Given the description of an element on the screen output the (x, y) to click on. 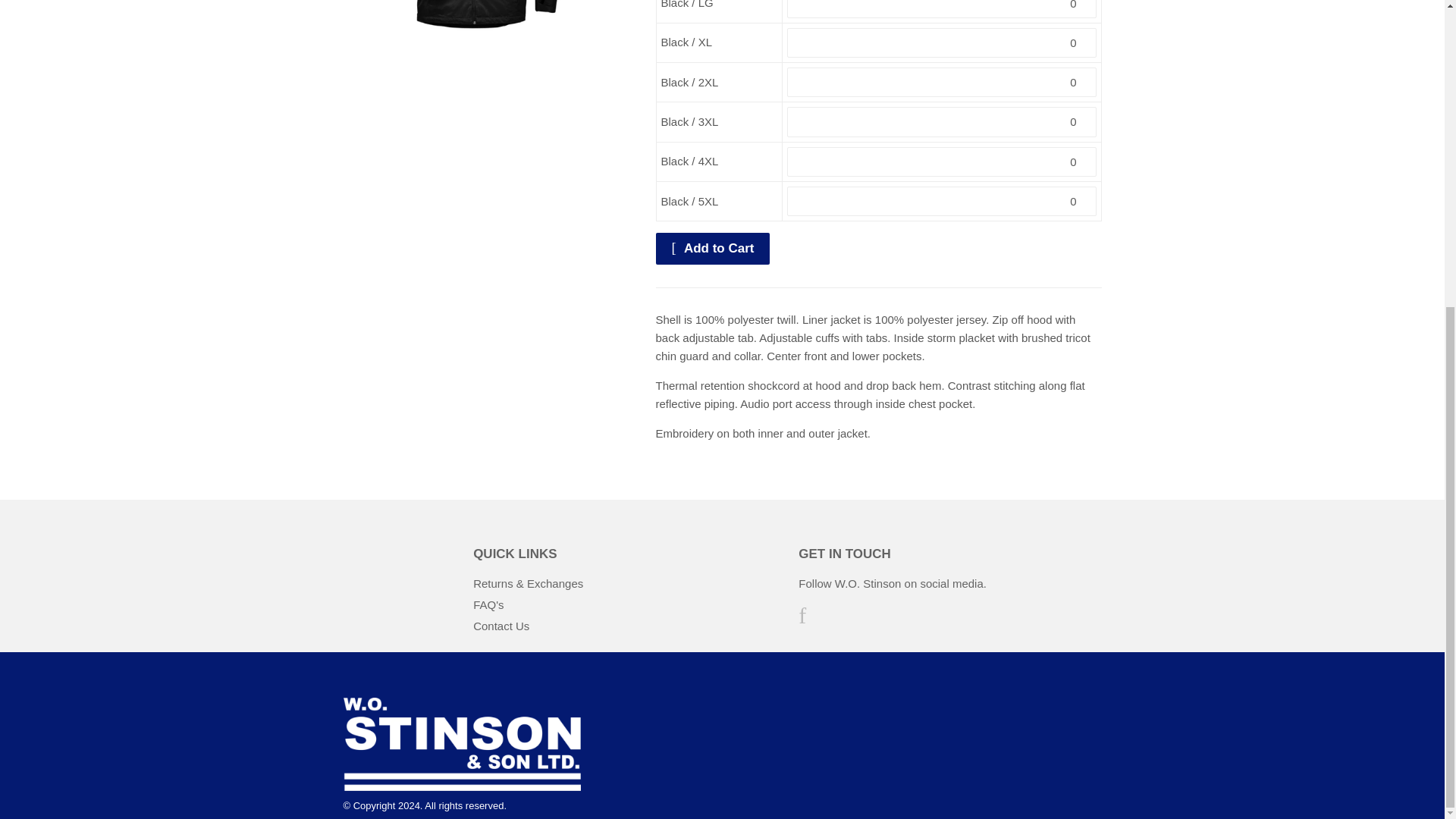
FAQ's (488, 604)
0 (941, 121)
0 (941, 8)
0 (941, 42)
0 (941, 161)
0 (941, 201)
Add to Cart (712, 248)
Contact Us (501, 625)
0 (941, 82)
